Given the description of an element on the screen output the (x, y) to click on. 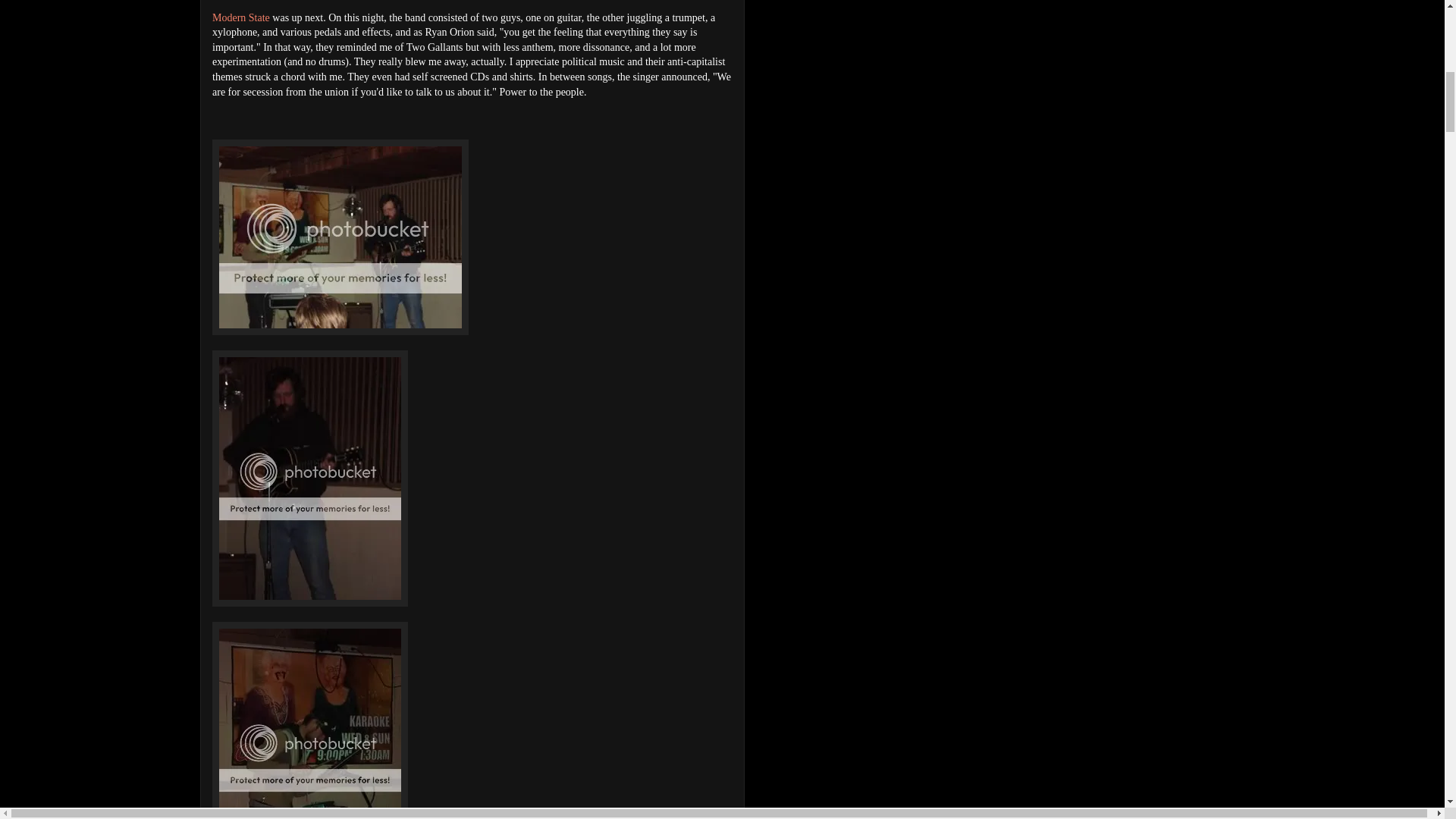
Modern State (240, 17)
